Given the description of an element on the screen output the (x, y) to click on. 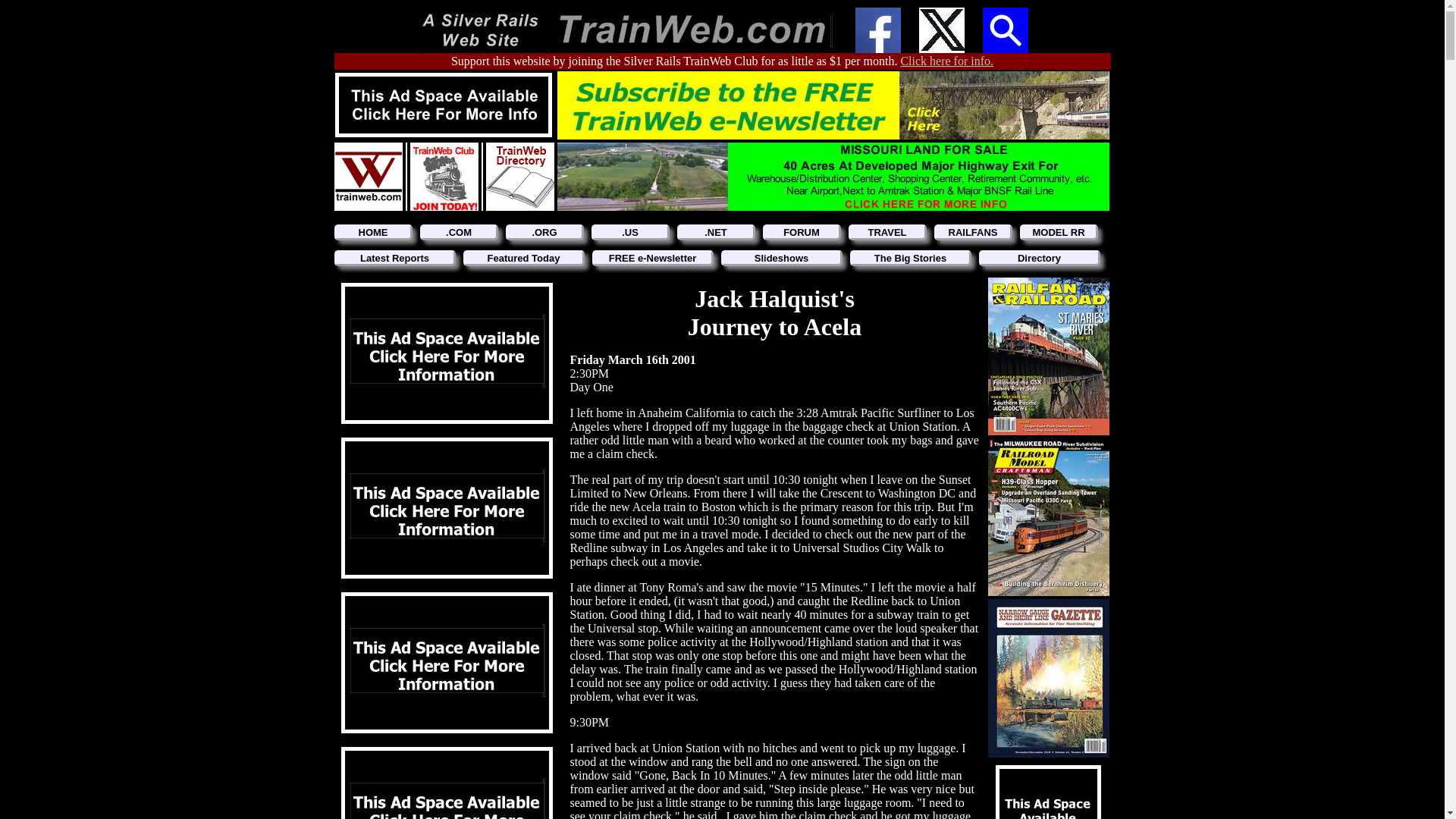
Latest Reports (393, 258)
HOME (372, 232)
.COM (458, 232)
.ORG (544, 232)
.US (630, 232)
FREE e-Newsletter (652, 258)
.NET (715, 232)
Featured Today (523, 258)
